Given the description of an element on the screen output the (x, y) to click on. 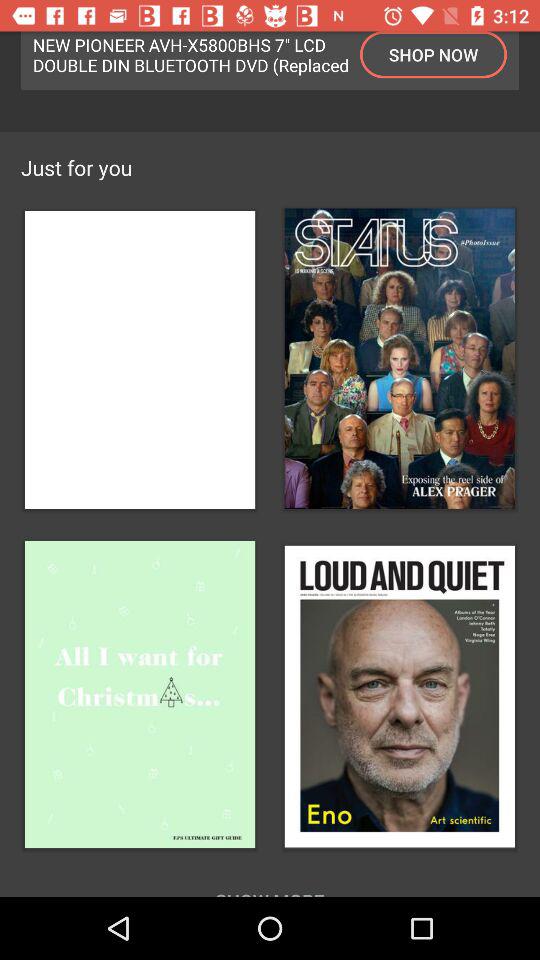
scroll to show more (270, 879)
